Given the description of an element on the screen output the (x, y) to click on. 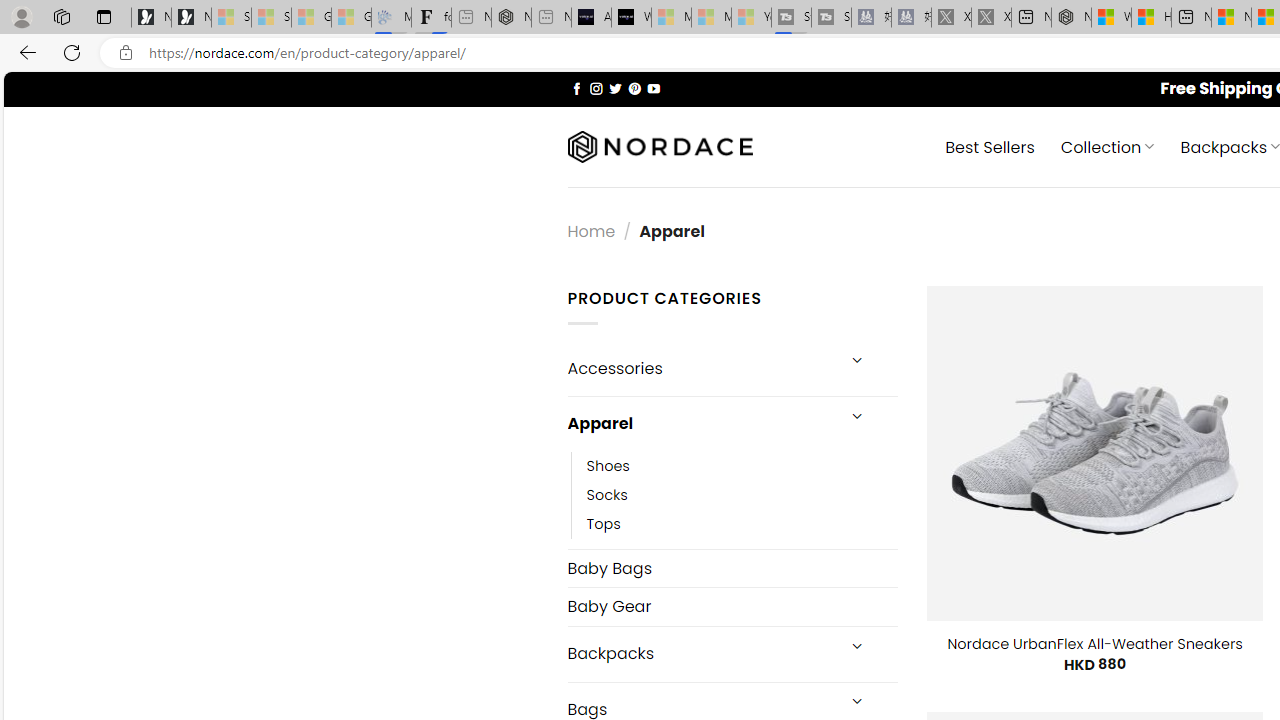
Baby Gear (732, 605)
AI Voice Changer for PC and Mac - Voice.ai (591, 17)
Accessories (700, 368)
